Given the description of an element on the screen output the (x, y) to click on. 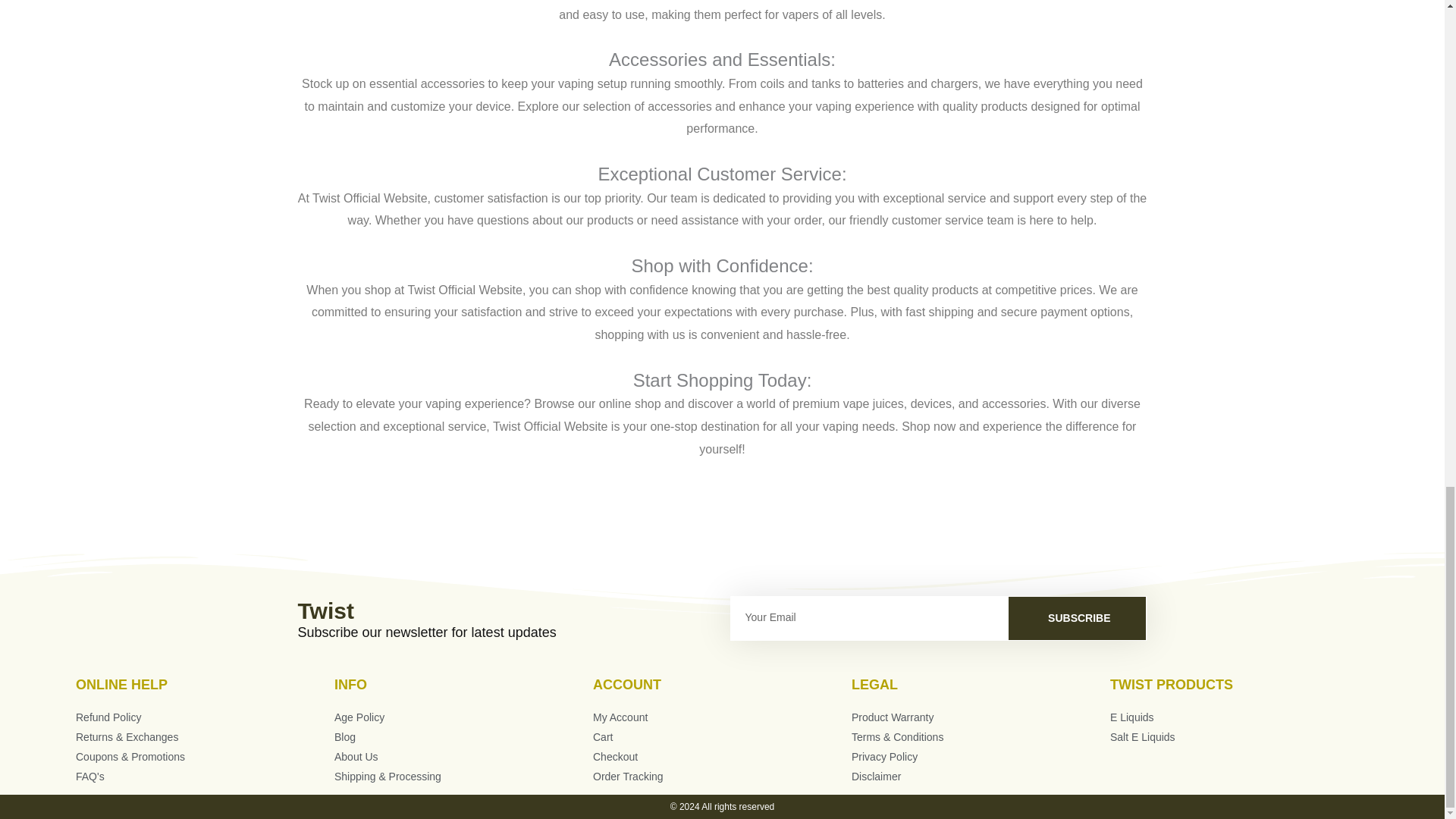
SUBSCRIBE (1077, 618)
Age Policy (463, 718)
FAQ's (204, 777)
Product Warranty (980, 718)
About Us (463, 757)
Checkout (721, 757)
Refund Policy (204, 718)
Cart (721, 737)
Order Tracking (721, 777)
My Account (721, 718)
Blog (463, 737)
